Given the description of an element on the screen output the (x, y) to click on. 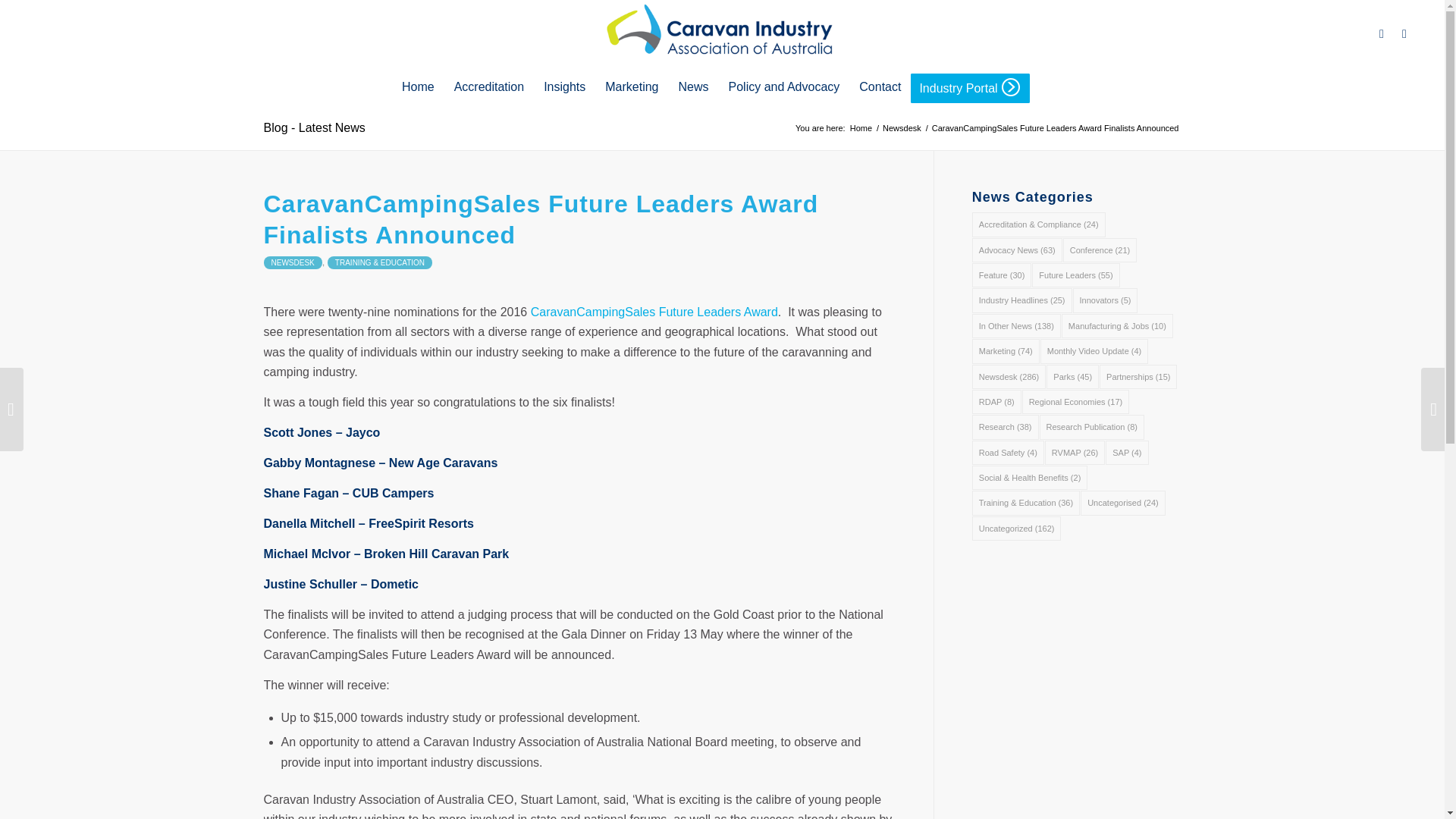
Permanent Link: Blog - Latest News (314, 127)
Home (417, 86)
Home (861, 128)
Policy and Advocacy (784, 86)
Newsdesk (901, 128)
News (693, 86)
Insights (564, 86)
Caravan Industry (861, 128)
CaravanCampingSales Future Leaders Award (654, 311)
Accreditation (489, 86)
